Given the description of an element on the screen output the (x, y) to click on. 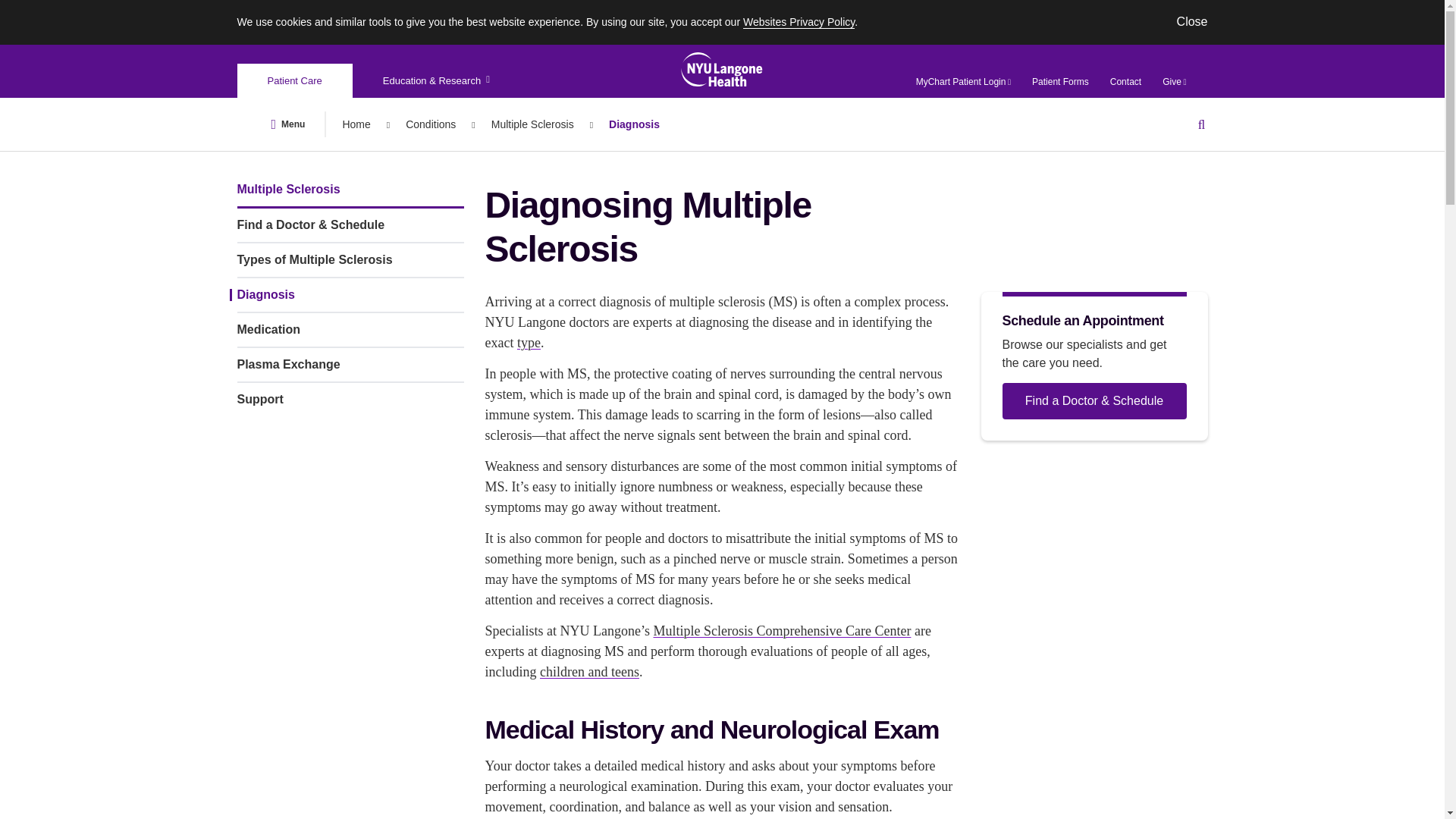
Conditions (430, 124)
Multiple Sclerosis (532, 124)
Websites Privacy Policy (798, 21)
Home (355, 124)
Home (355, 124)
Patient Care (295, 80)
Menu (288, 124)
Give (1173, 81)
Multiple Sclerosis (532, 124)
MyChart Patient Login (962, 81)
Close (1192, 21)
Diagnosis (633, 124)
Patient Forms (1060, 81)
Conditions (430, 124)
Contact (1125, 81)
